Given the description of an element on the screen output the (x, y) to click on. 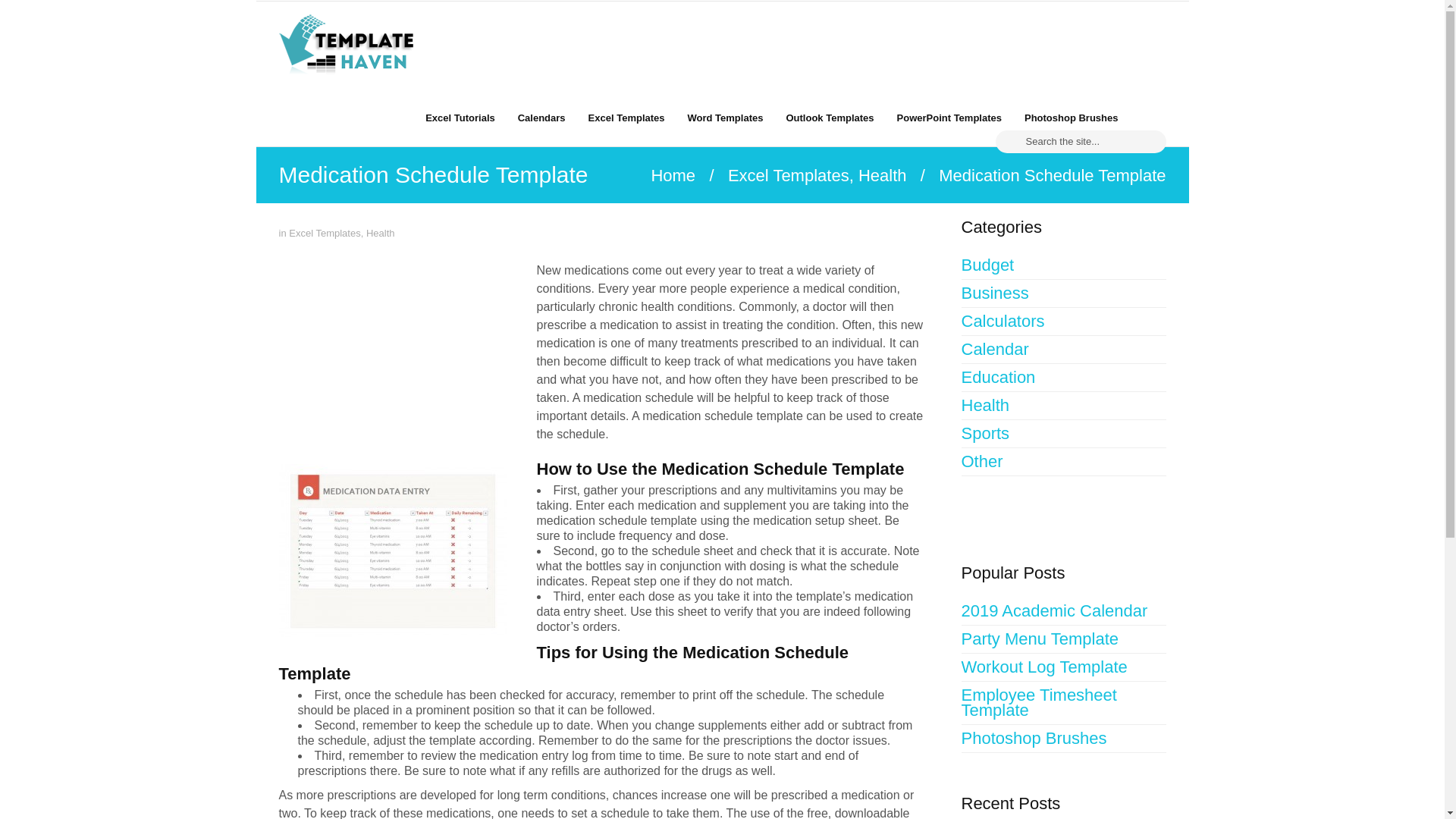
Sports (1063, 433)
Calculators (1063, 321)
Excel Templates (626, 116)
Excel Templates (323, 233)
PowerPoint Templates (949, 116)
Budget (1063, 265)
Health (1063, 406)
2019 Academic Calendar (1063, 611)
Home (672, 175)
Employee Timesheet Template (1063, 702)
